Given the description of an element on the screen output the (x, y) to click on. 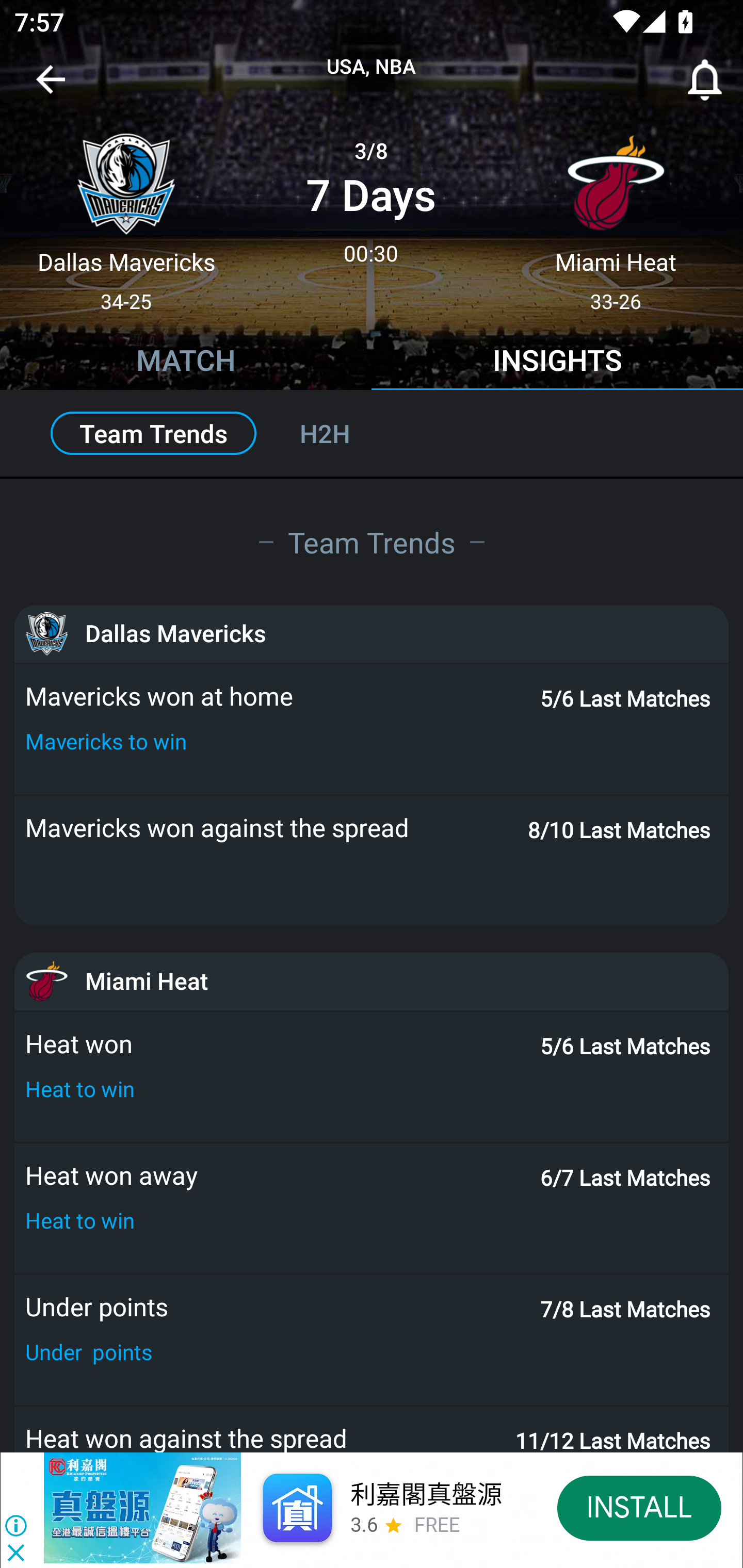
Navigate up (50, 86)
USA, NBA (371, 66)
Dallas Mavericks 34-25 (126, 214)
Miami Heat 33-26 (616, 214)
MATCH (185, 362)
INSIGHTS (557, 362)
H2H (346, 433)
Team Trends (371, 541)
Dallas Mavericks (371, 634)
Mavericks won against the spread 8/10 Last Matches (371, 860)
Miami Heat (371, 981)
Heat won 5/6 Last Matches Heat to win (371, 1076)
Heat won away 6/7 Last Matches Heat to win (371, 1208)
Under points 7/8 Last Matches Under  points (371, 1339)
Heat won against the spread 11/12 Last Matches (371, 1428)
INSTALL (639, 1507)
利嘉閣真盤源 (425, 1494)
